Given the description of an element on the screen output the (x, y) to click on. 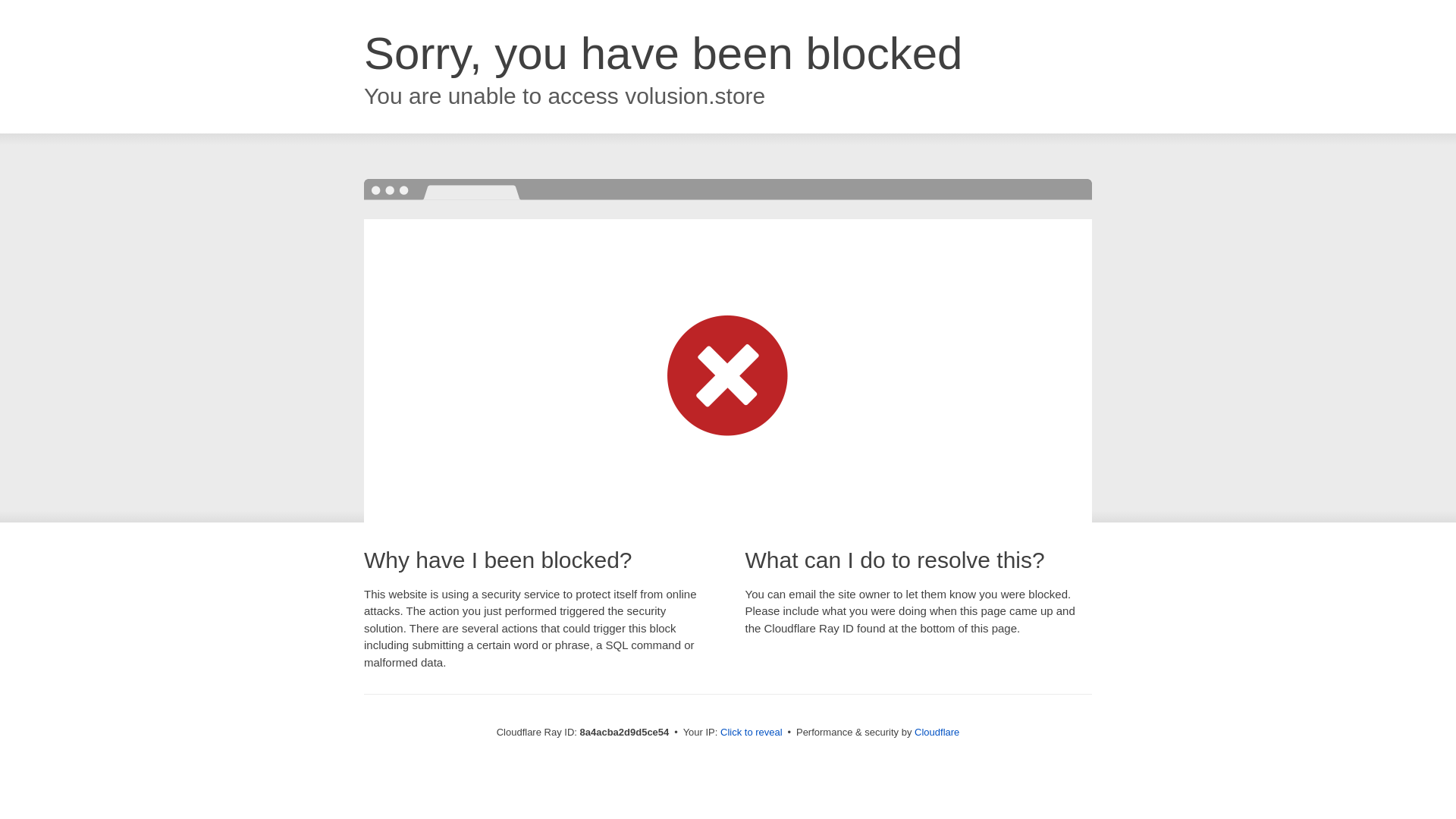
Cloudflare (936, 731)
Click to reveal (751, 732)
